Given the description of an element on the screen output the (x, y) to click on. 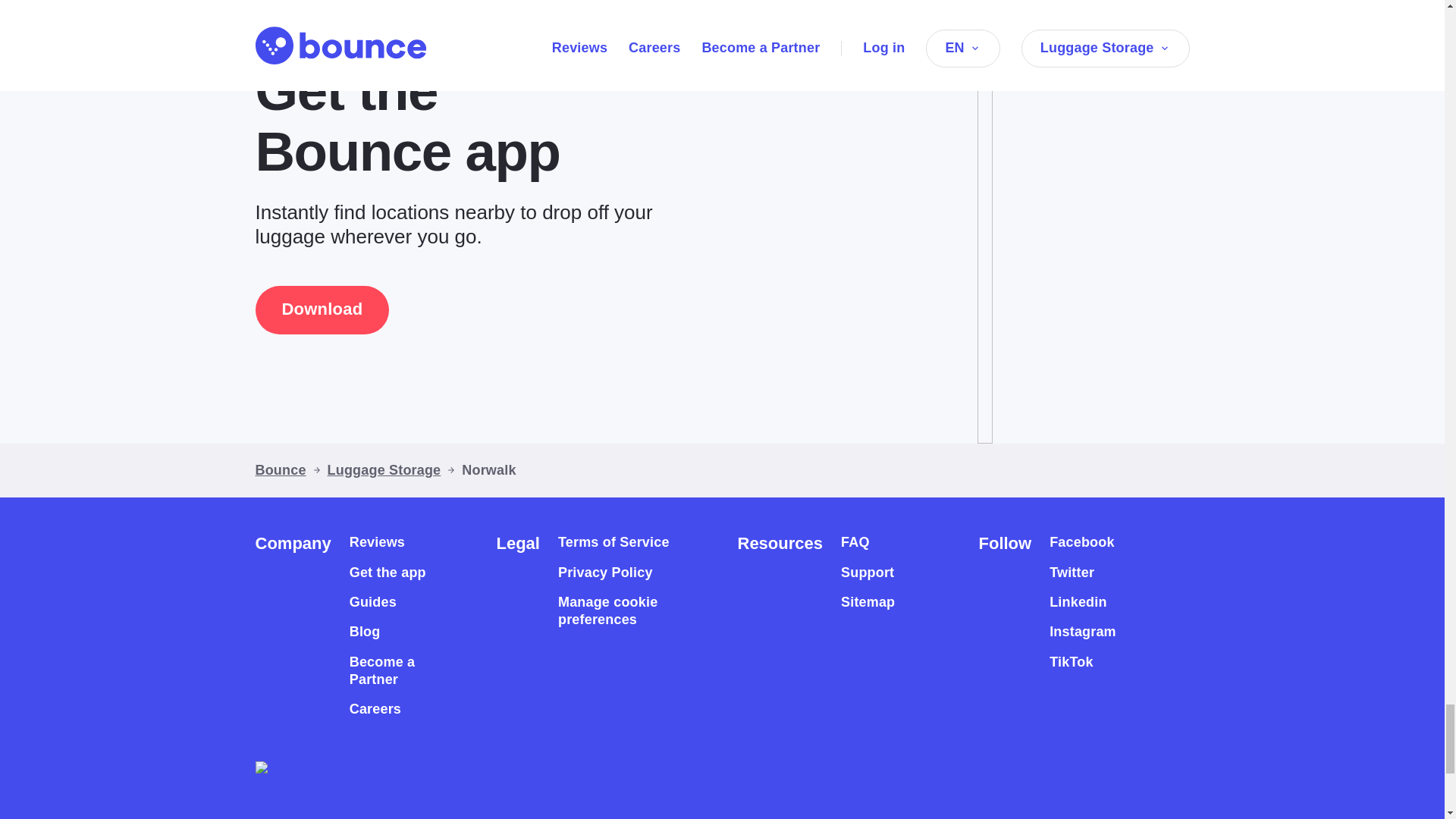
Get the app (387, 572)
Terms of Service (613, 542)
Become a Partner (395, 671)
Reviews (376, 542)
Guides (372, 601)
Blog (364, 631)
Luggage Storage (384, 470)
Bounce (279, 470)
Privacy Policy (604, 572)
Careers (375, 709)
Download (321, 309)
